Given the description of an element on the screen output the (x, y) to click on. 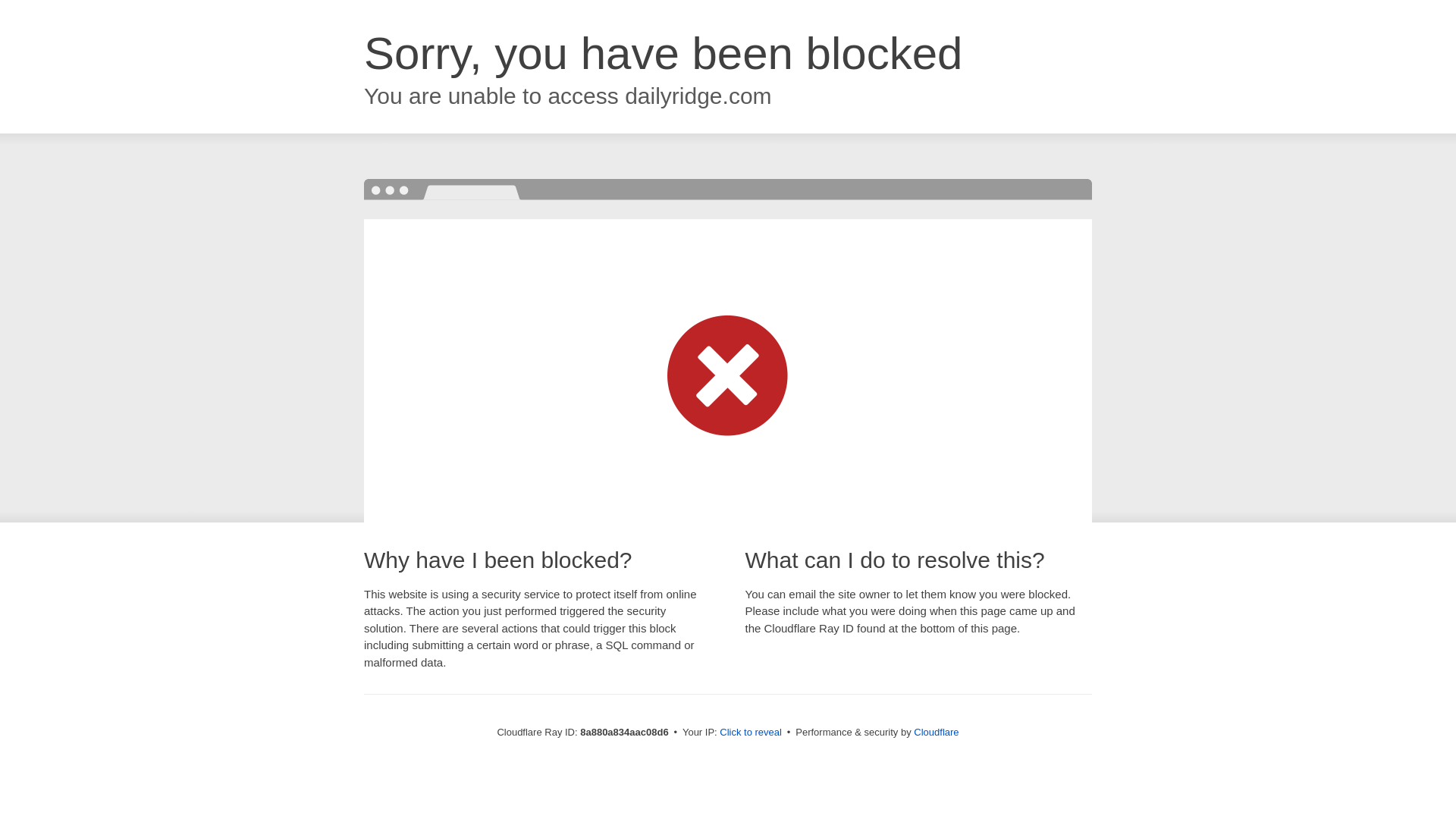
Cloudflare (936, 731)
Click to reveal (750, 732)
